Given the description of an element on the screen output the (x, y) to click on. 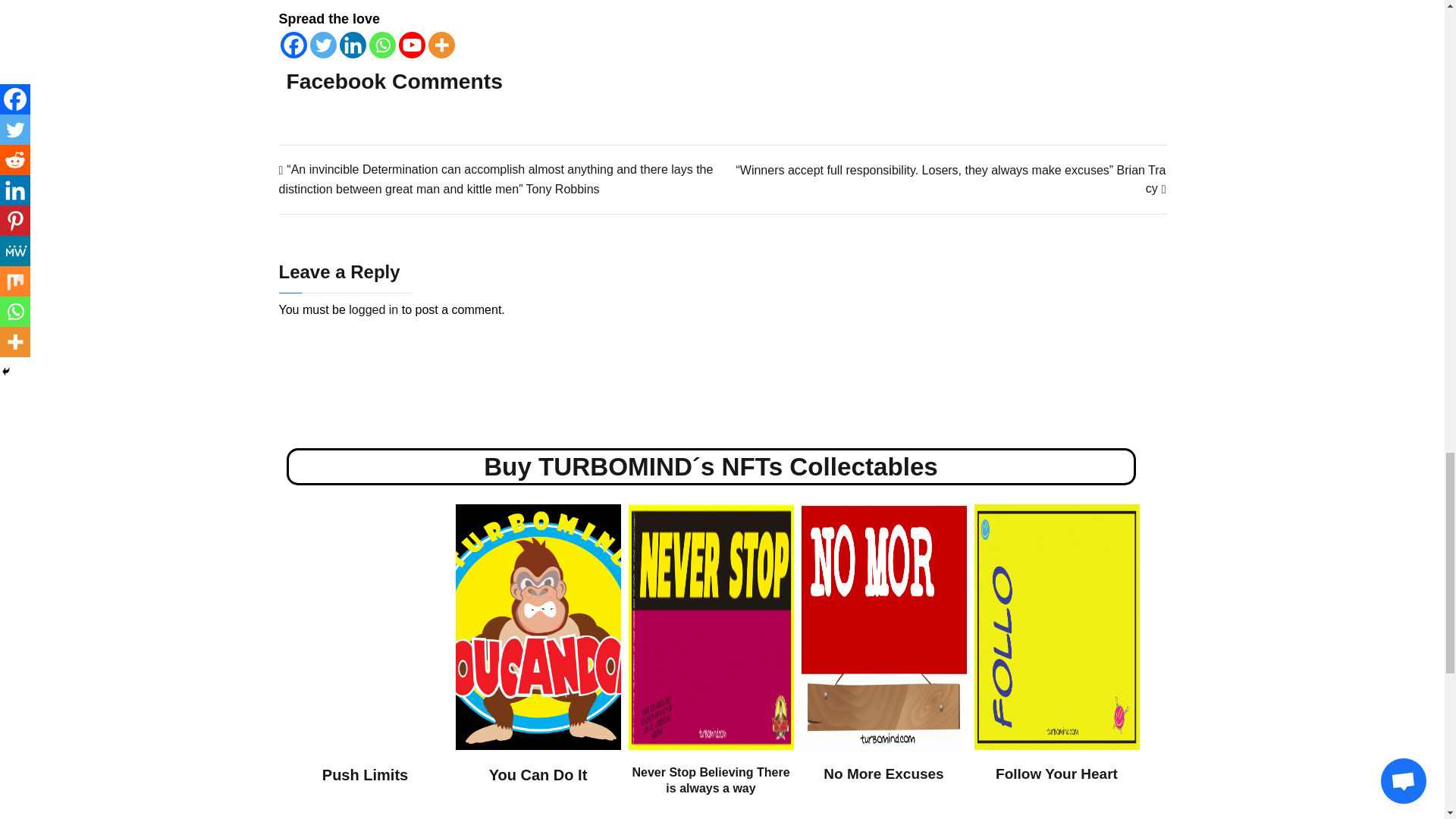
Twitter (322, 44)
More (441, 44)
Youtube (411, 44)
Facebook (294, 44)
Whatsapp (381, 44)
Linkedin (352, 44)
